Given the description of an element on the screen output the (x, y) to click on. 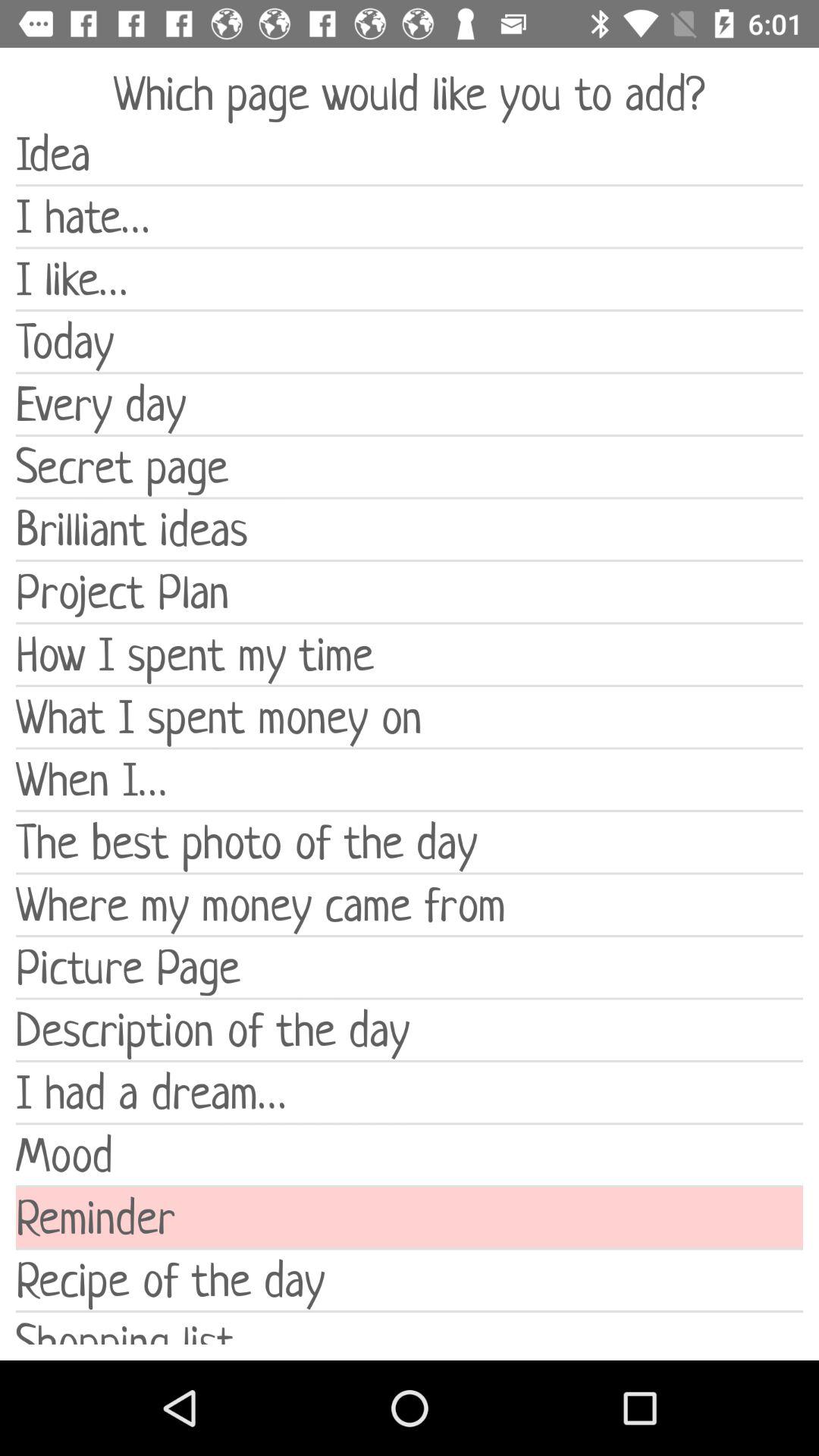
choose icon above the today (409, 279)
